Given the description of an element on the screen output the (x, y) to click on. 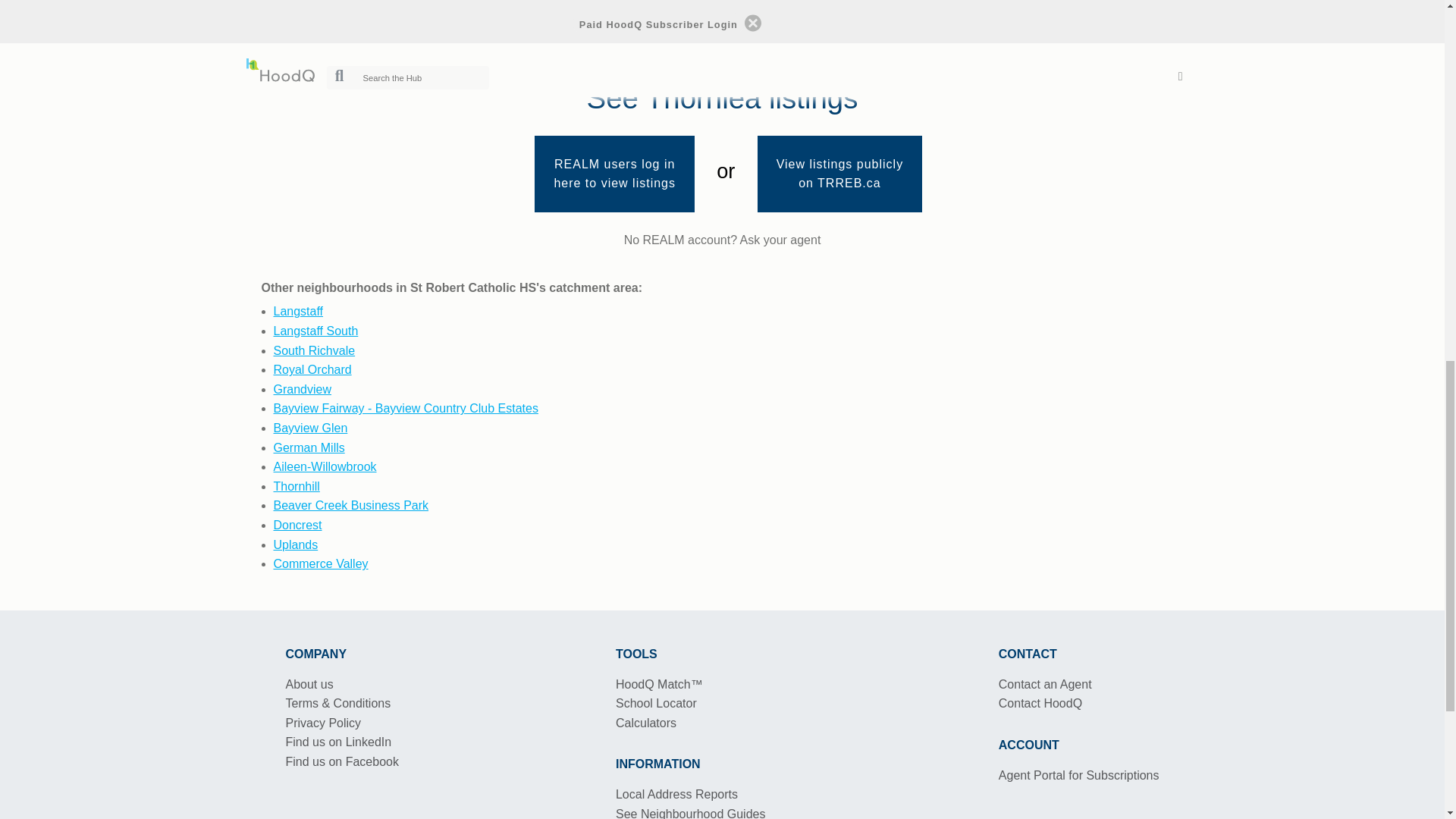
Privacy Policy (323, 722)
German Mills (308, 447)
Thornhill (295, 486)
Uplands (295, 544)
Royal Orchard (311, 369)
About us (309, 684)
Langstaff South (315, 330)
Grandview (301, 389)
Commerce Valley (320, 563)
Aileen-Willowbrook (324, 466)
Find us on Facebook (341, 761)
See Neighbourhood Guides (690, 813)
Calculators (646, 722)
School Locator (656, 703)
Bayview Glen (310, 427)
